Given the description of an element on the screen output the (x, y) to click on. 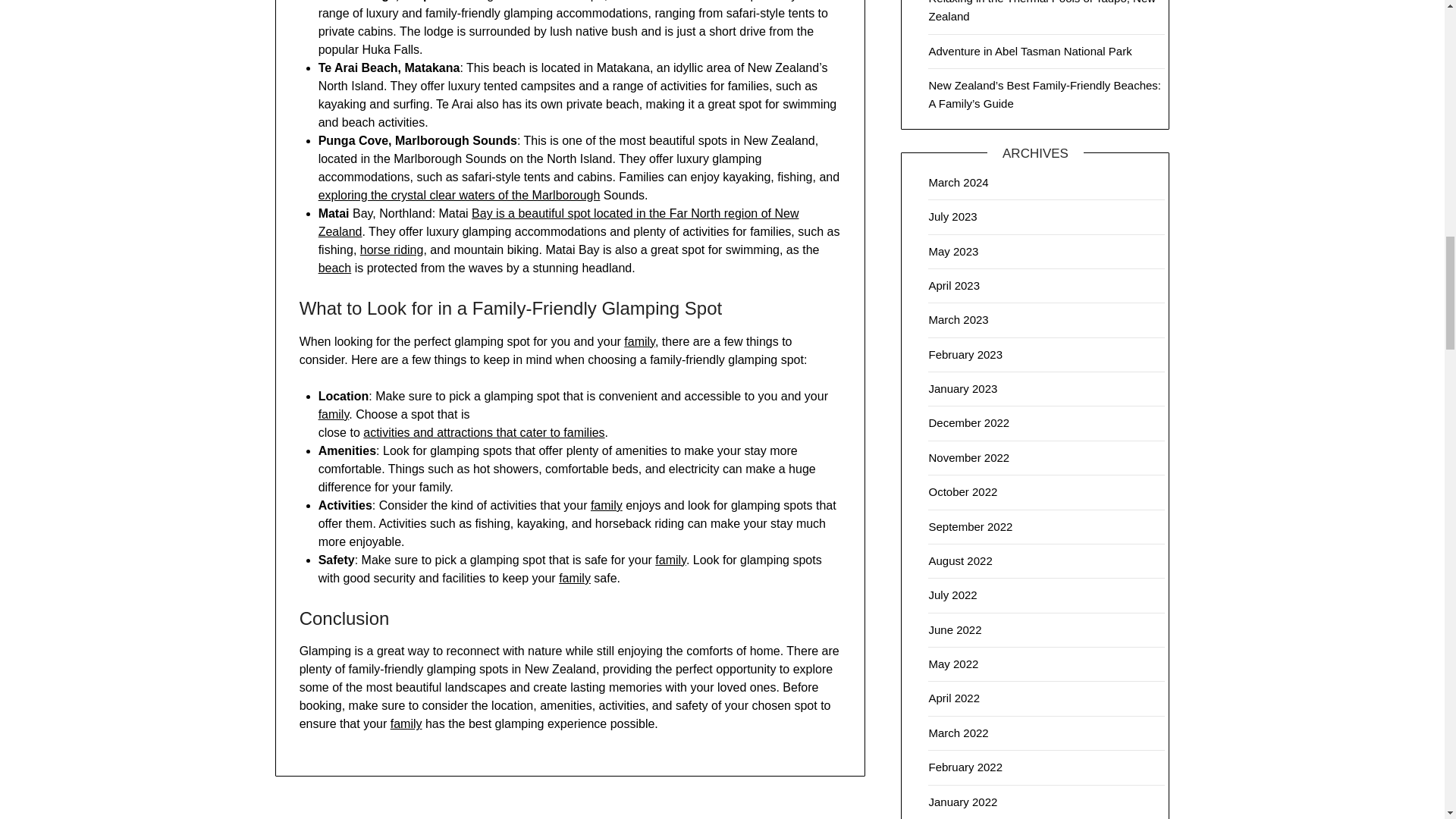
family (607, 504)
beach (335, 267)
March 2024 (958, 182)
July 2023 (952, 215)
family (670, 559)
Adventure in Abel Tasman National Park (1029, 51)
horse riding (391, 249)
family (575, 577)
Relaxing in the Thermal Pools of Taupo, New Zealand (1042, 11)
family (406, 723)
